Given the description of an element on the screen output the (x, y) to click on. 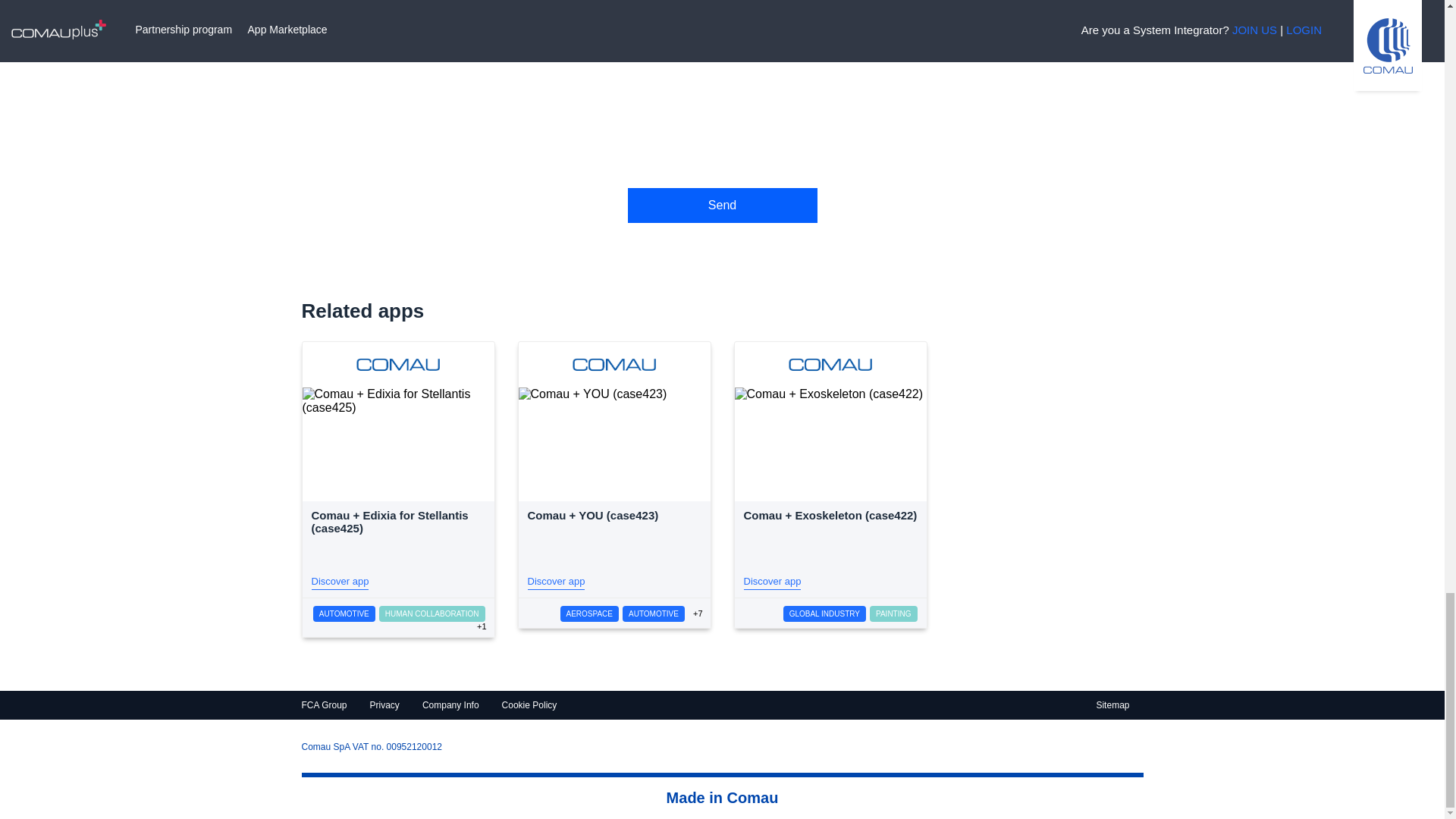
Human collaboration (431, 613)
AUTOMOTIVE (653, 613)
Discover app (771, 582)
AEROSPACE (590, 613)
HUMAN COLLABORATION (431, 613)
Discover app (339, 582)
AUTOMOTIVE (344, 613)
Discover app (556, 582)
GLOBAL INDUSTRY (824, 613)
Send (721, 205)
Automotive (344, 613)
